Given the description of an element on the screen output the (x, y) to click on. 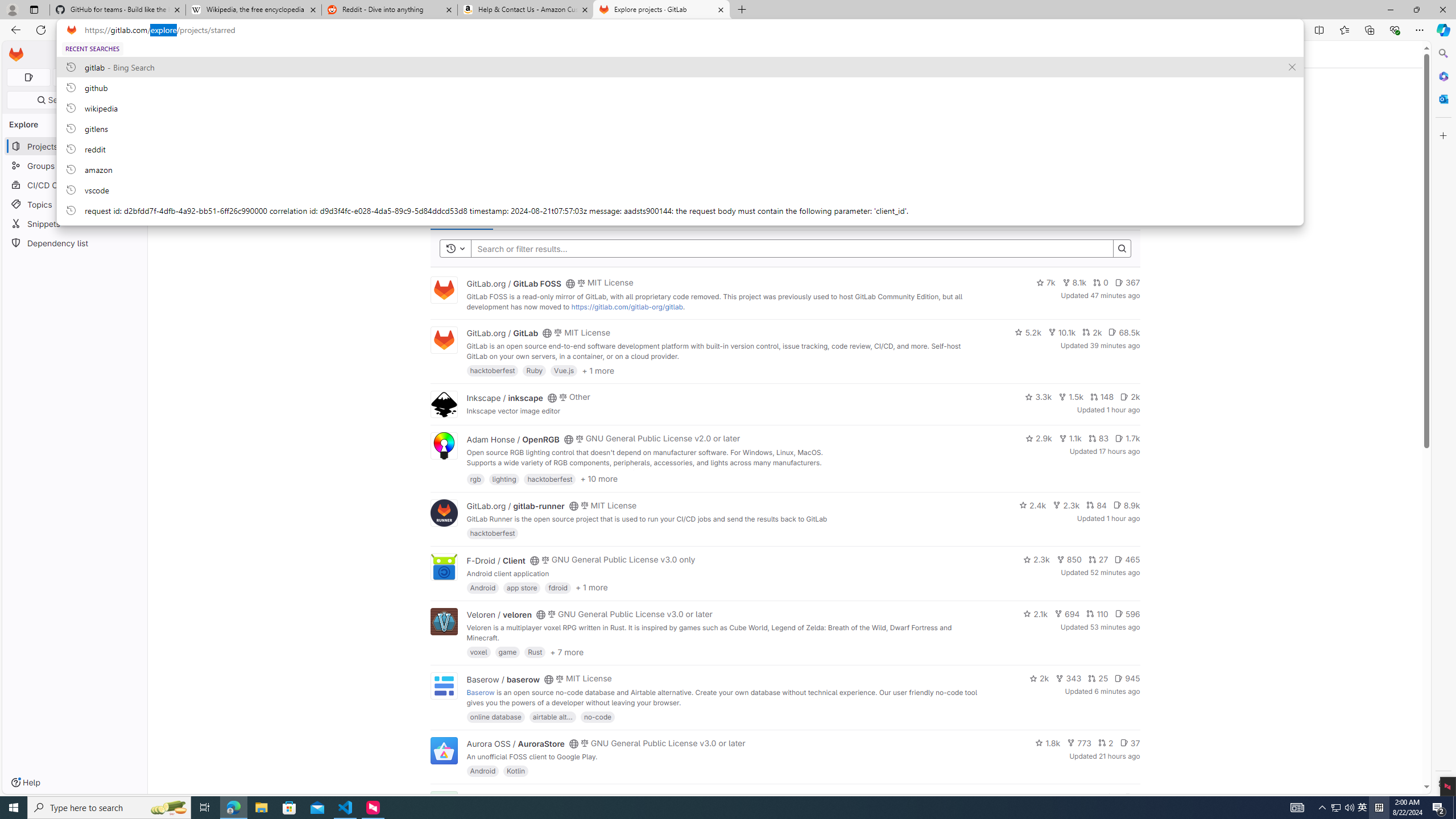
Assigned issues 0 (28, 76)
fdroid (558, 587)
https://openrgb.org (563, 472)
+ 1 more (591, 587)
+ 10 more (599, 478)
1.8k (1048, 742)
airtable alt... (552, 715)
3.3k (1038, 396)
Active (559, 216)
1 (1111, 797)
